Given the description of an element on the screen output the (x, y) to click on. 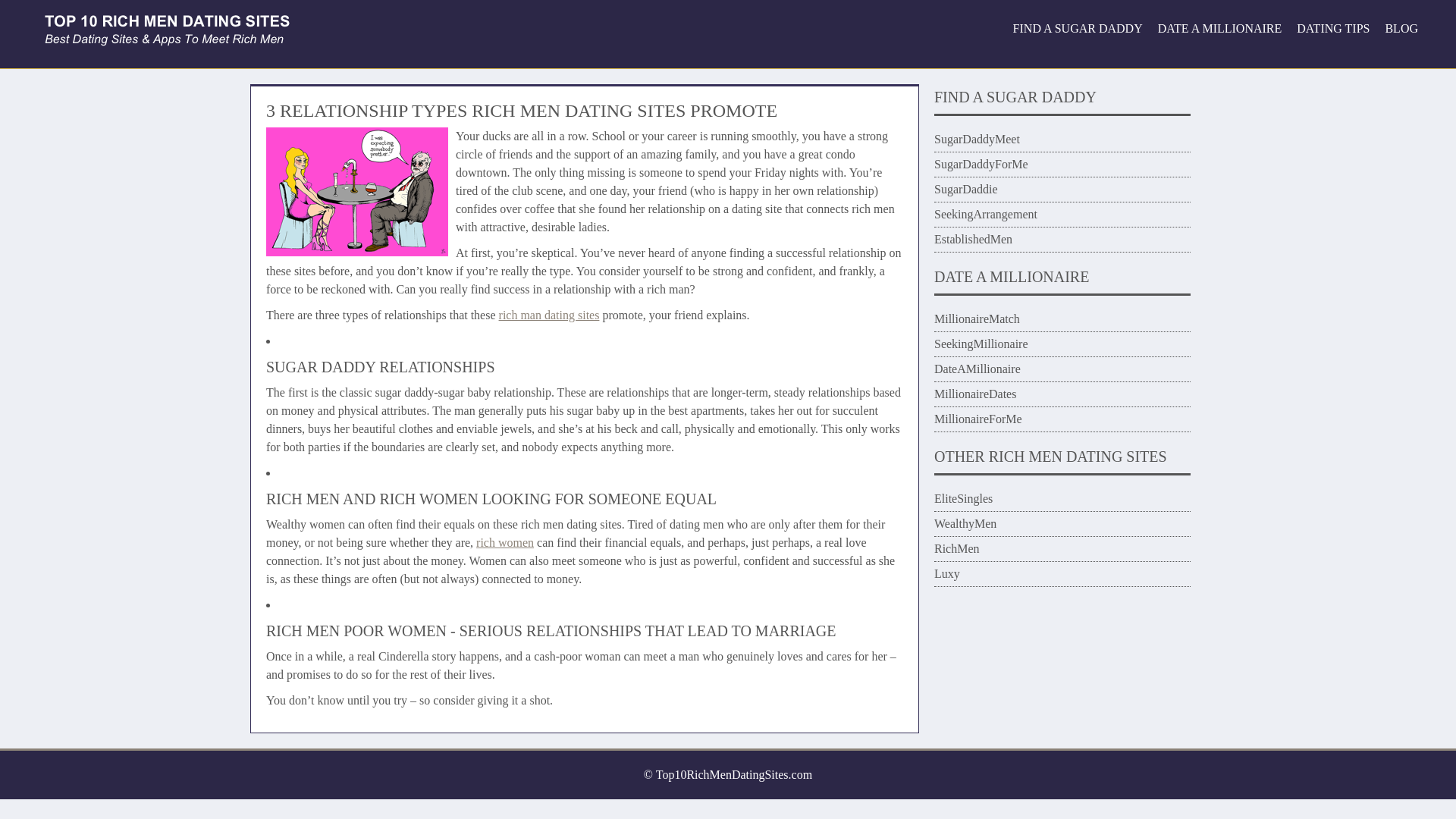
MillionaireForMe (978, 418)
MillionaireMatch (977, 318)
Top10RichMenDatingSites.com (734, 774)
FIND A SUGAR DADDY (1077, 28)
rich women (505, 542)
SugarDaddie (965, 188)
EstablishedMen (972, 238)
WealthyMen (964, 522)
SugarDaddyMeet (977, 138)
SeekingMillionaire (980, 343)
